Given the description of an element on the screen output the (x, y) to click on. 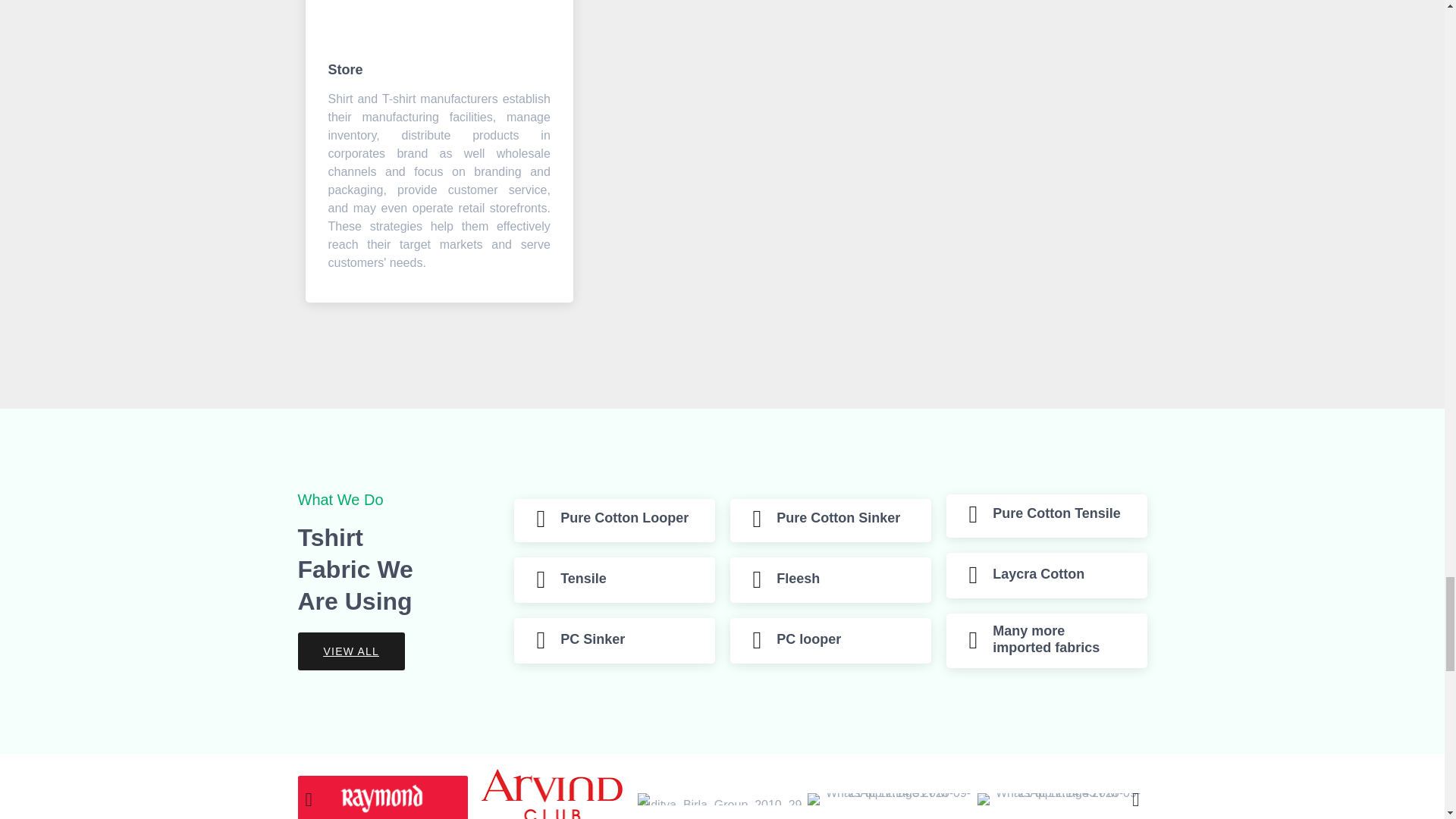
VIEW ALL (350, 651)
